Given the description of an element on the screen output the (x, y) to click on. 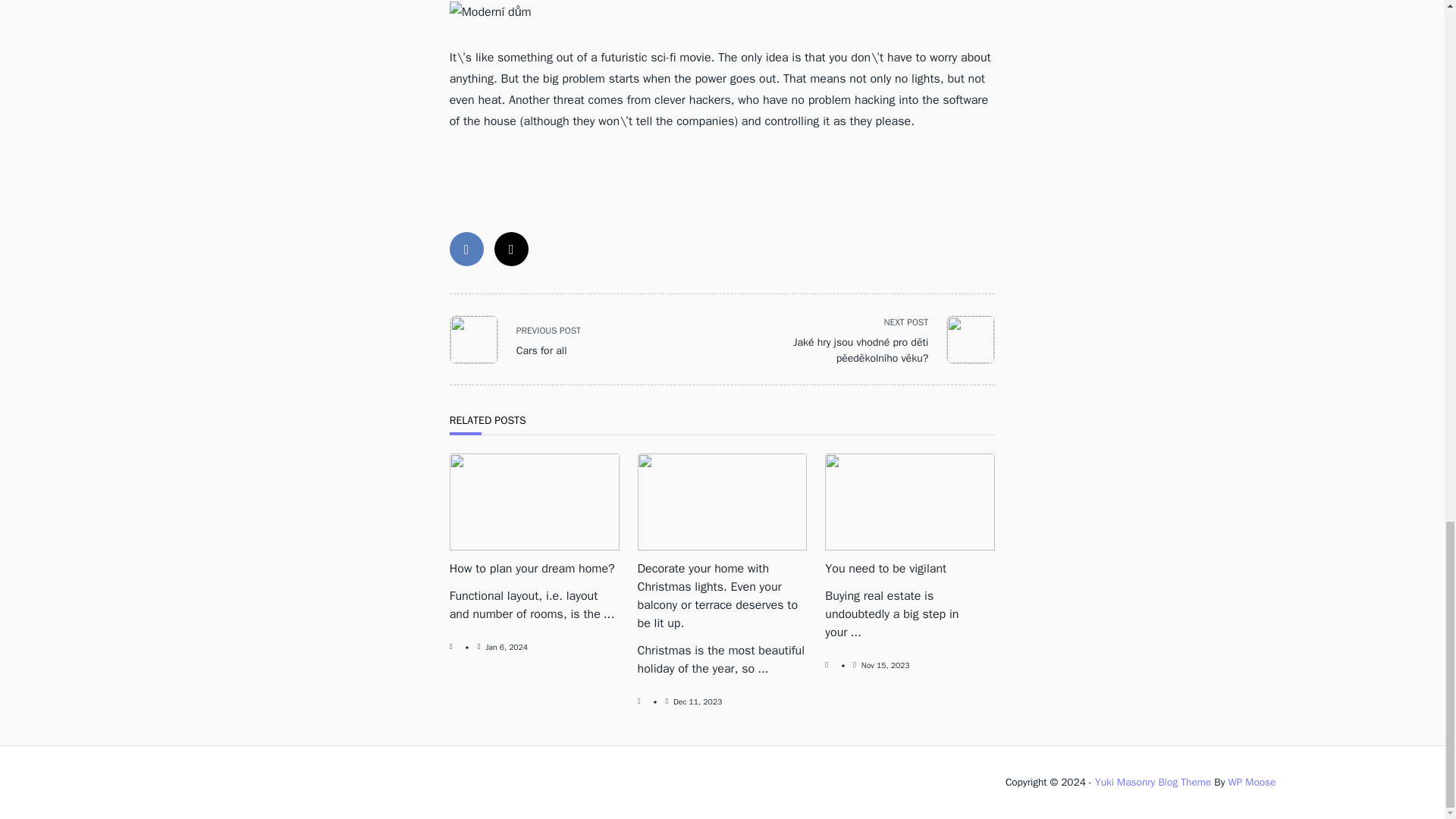
Jan 6, 2024 (505, 646)
Dec 11, 2023 (697, 701)
How to plan your dream home? (523, 339)
